Given the description of an element on the screen output the (x, y) to click on. 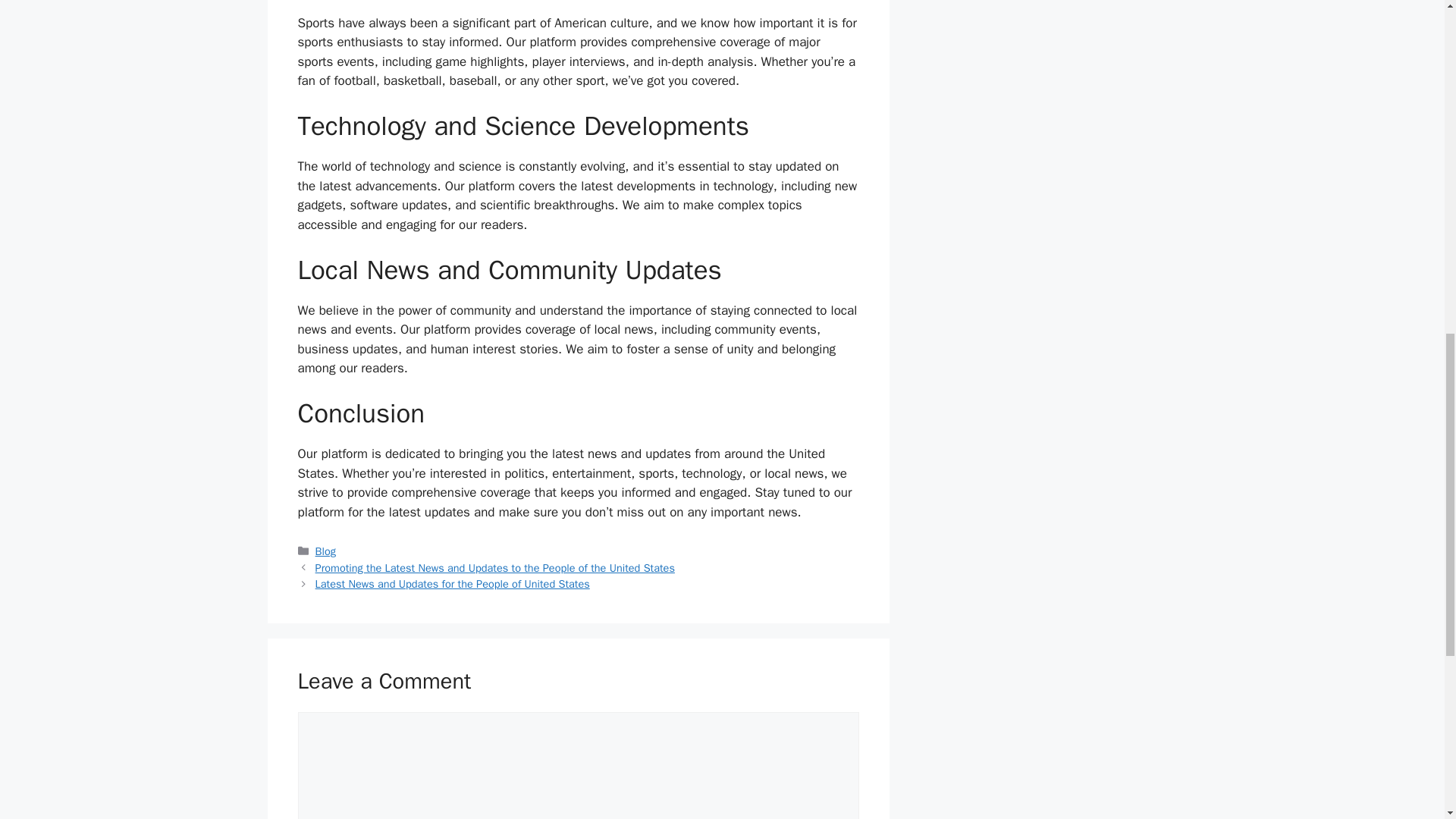
Latest News and Updates for the People of United States (452, 583)
Blog (325, 550)
